Given the description of an element on the screen output the (x, y) to click on. 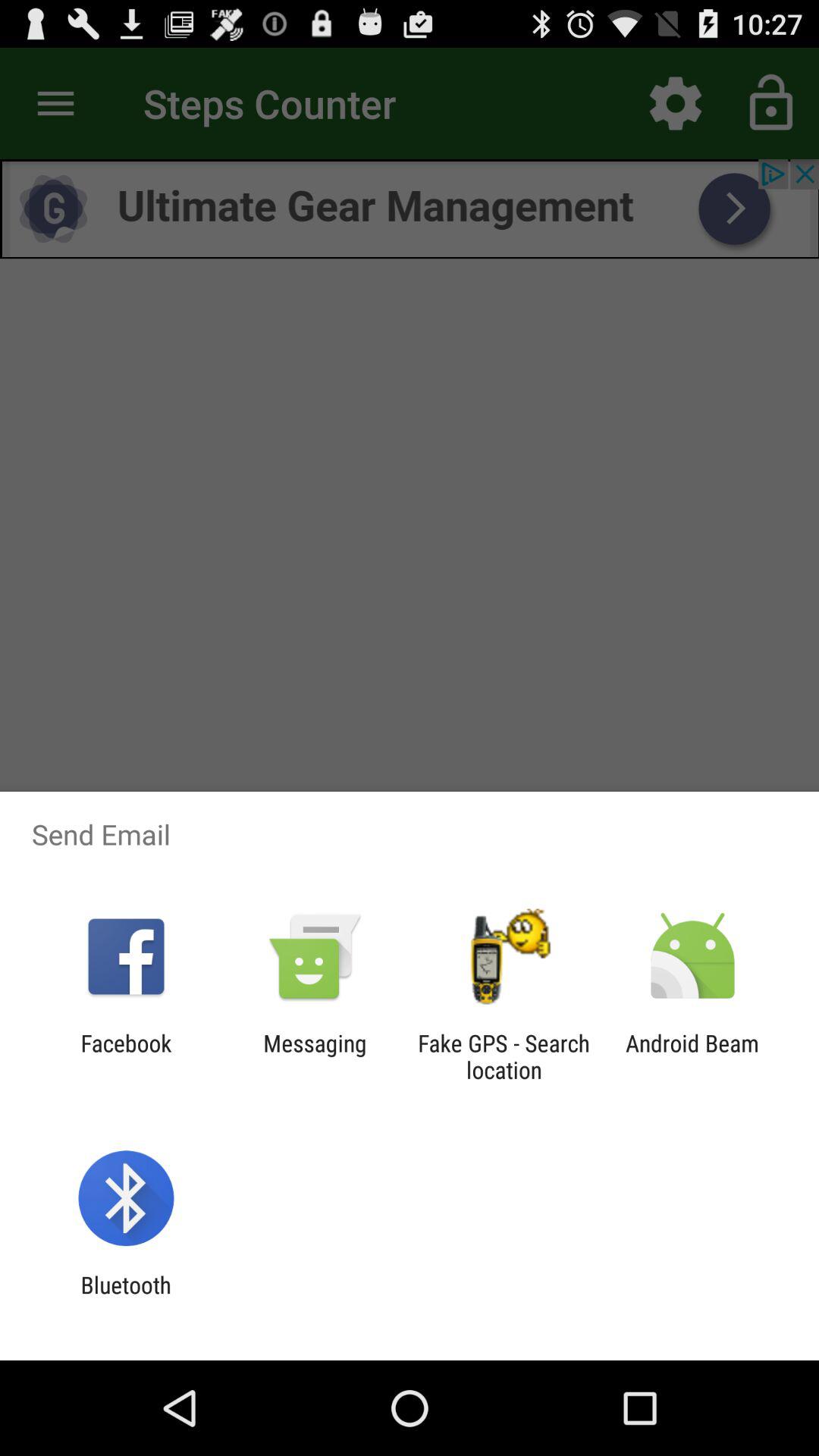
scroll to the android beam app (692, 1056)
